Given the description of an element on the screen output the (x, y) to click on. 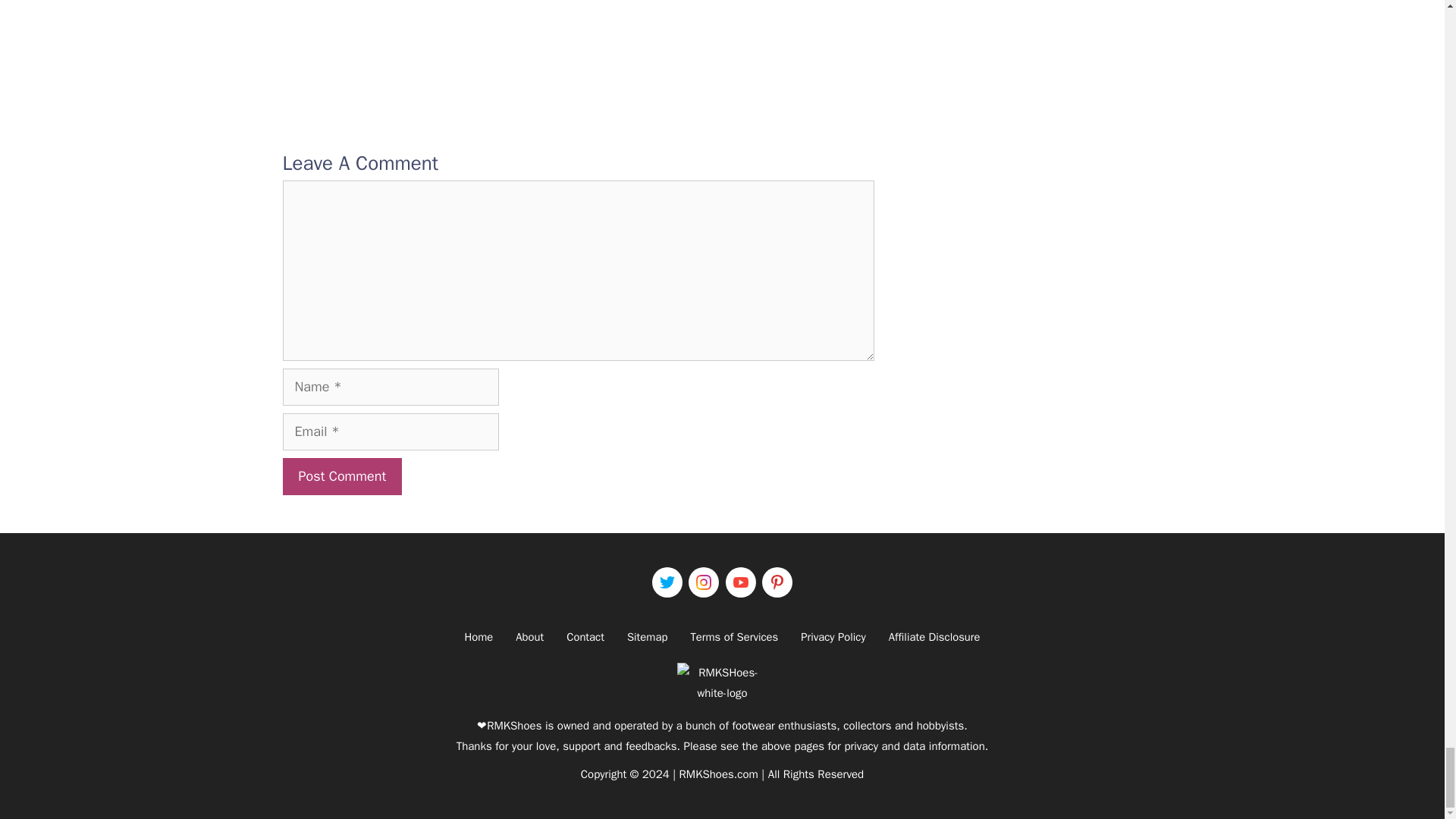
Youtube (740, 582)
Post Comment (341, 476)
Twitter (667, 582)
Instagram (703, 582)
